Given the description of an element on the screen output the (x, y) to click on. 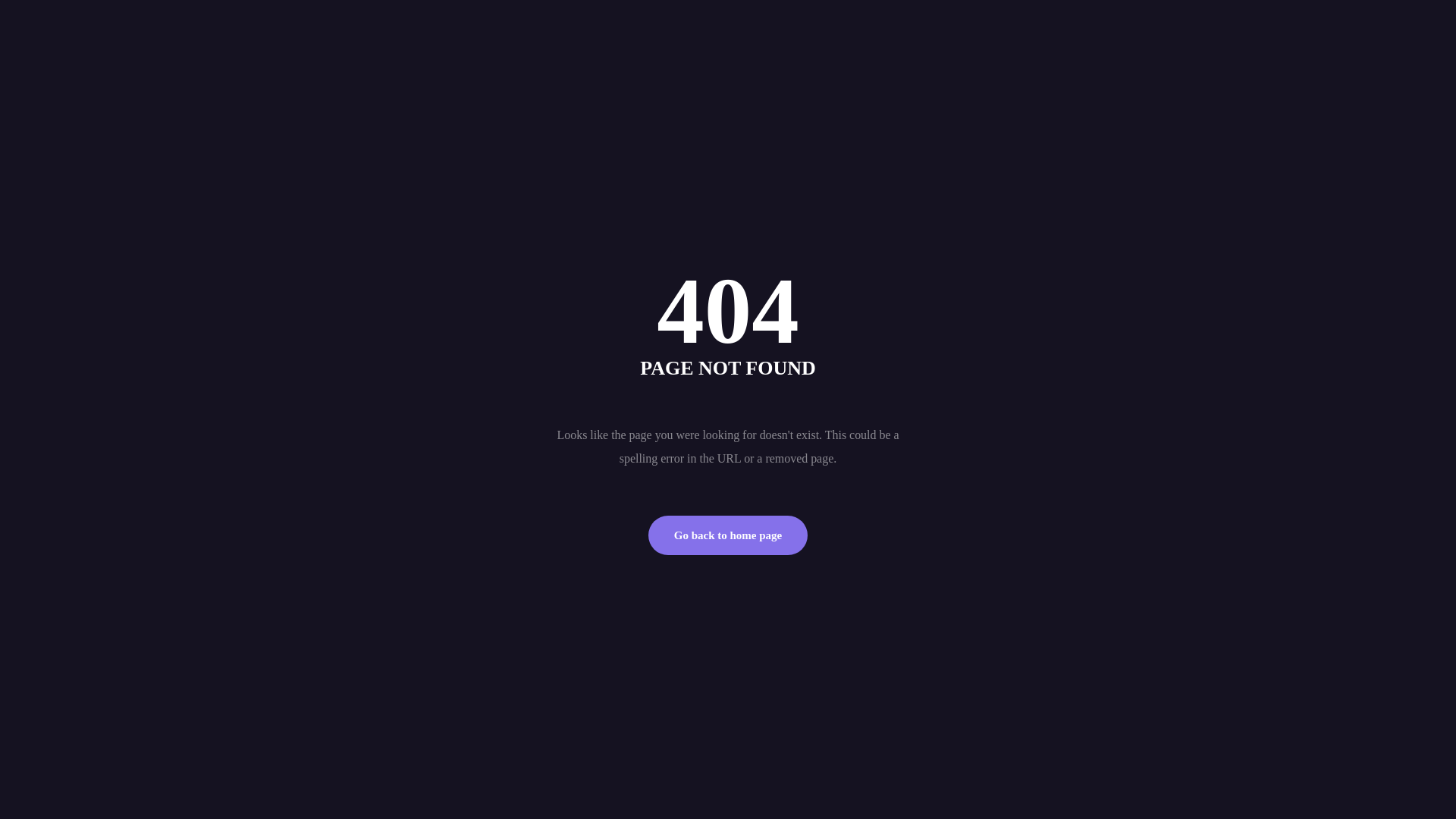
Go back to home page Element type: text (728, 535)
